Given the description of an element on the screen output the (x, y) to click on. 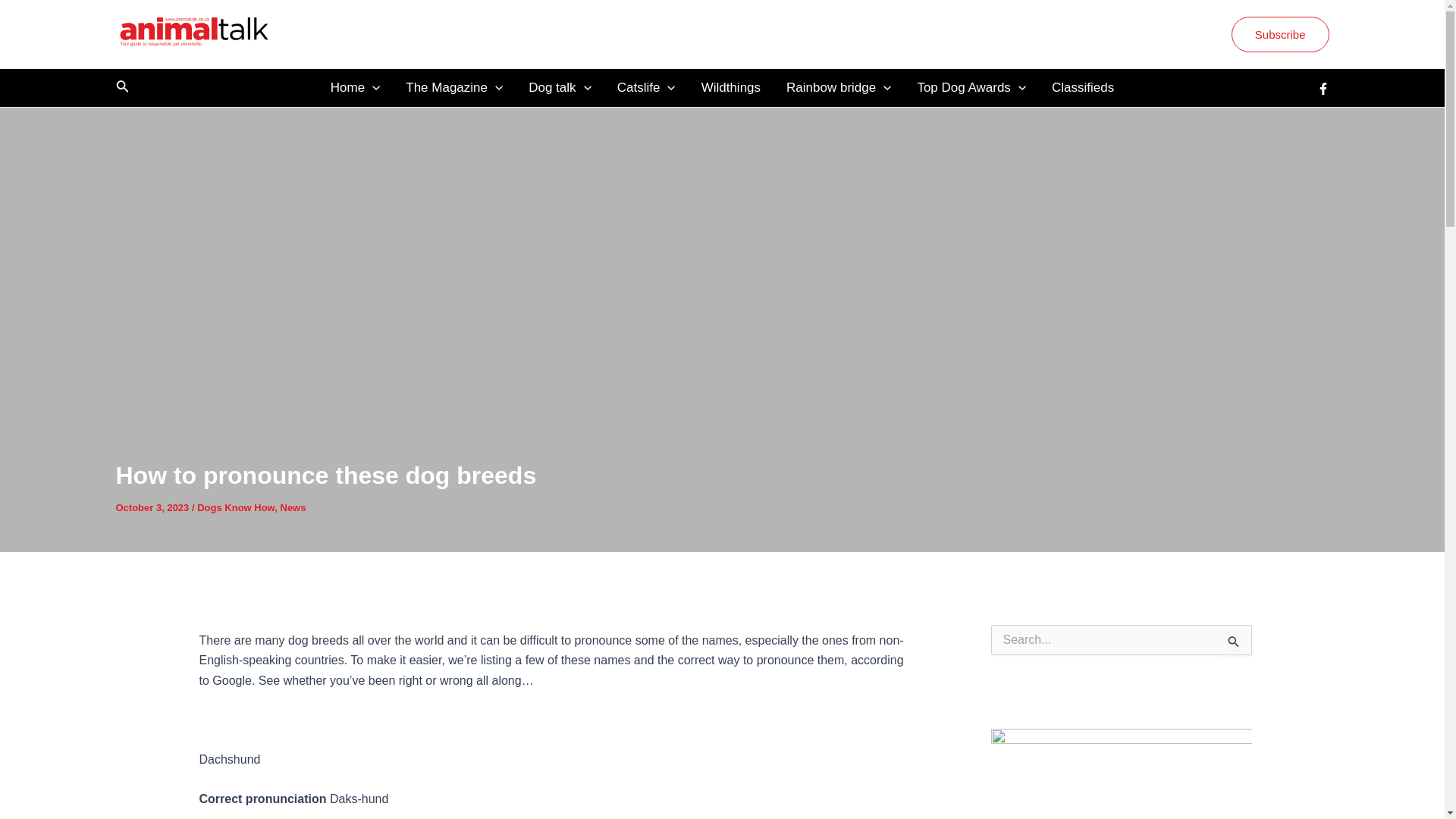
Subscribe (1280, 34)
Search (1234, 640)
Catslife (646, 87)
Home (355, 87)
The Magazine (454, 87)
Search (1234, 640)
Dog talk (559, 87)
